Given the description of an element on the screen output the (x, y) to click on. 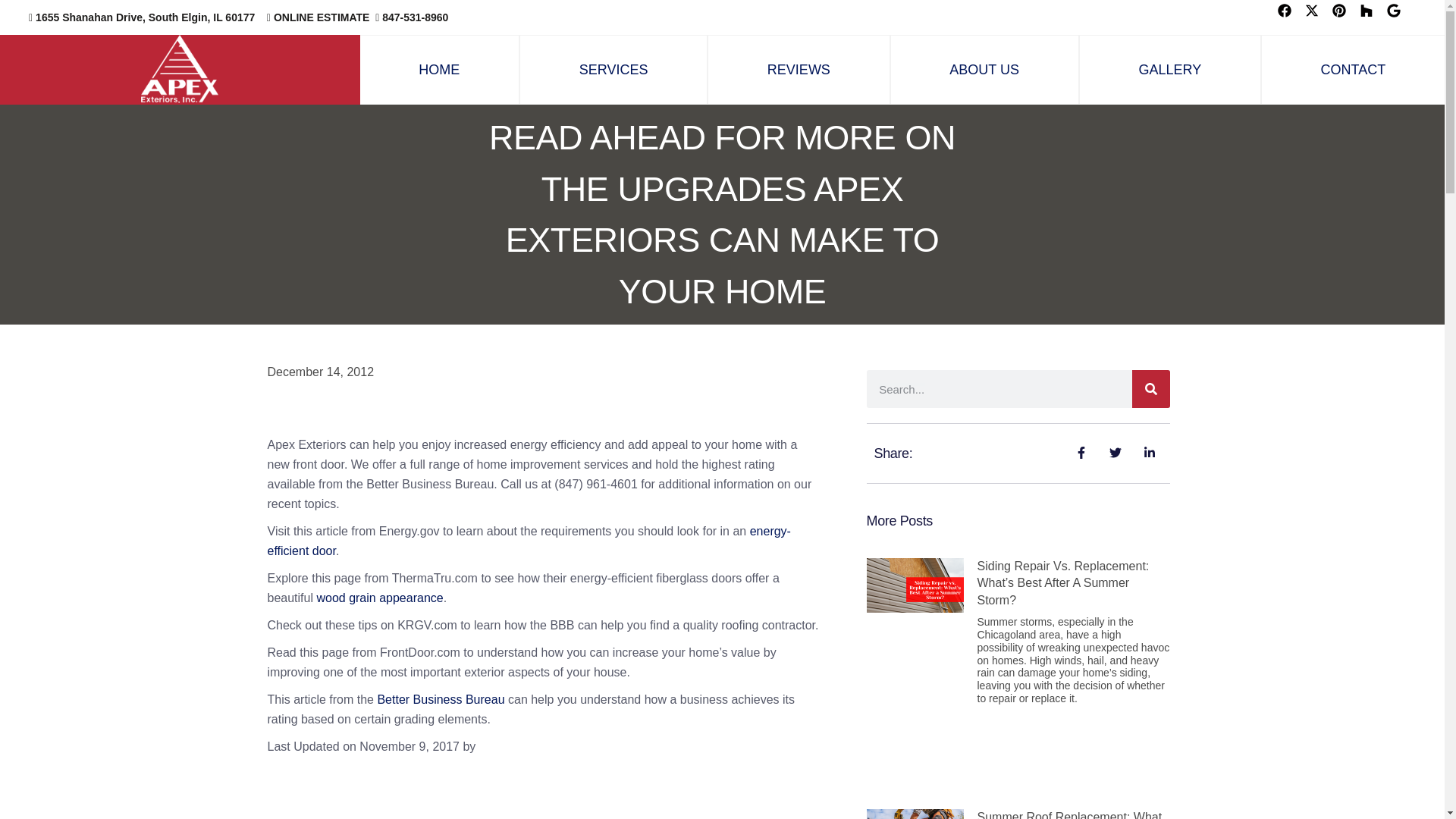
Energy Savers - energy.gov (528, 540)
Design innovation - thermatru.com (378, 597)
Business Reviews - bbb.org (440, 698)
